Given the description of an element on the screen output the (x, y) to click on. 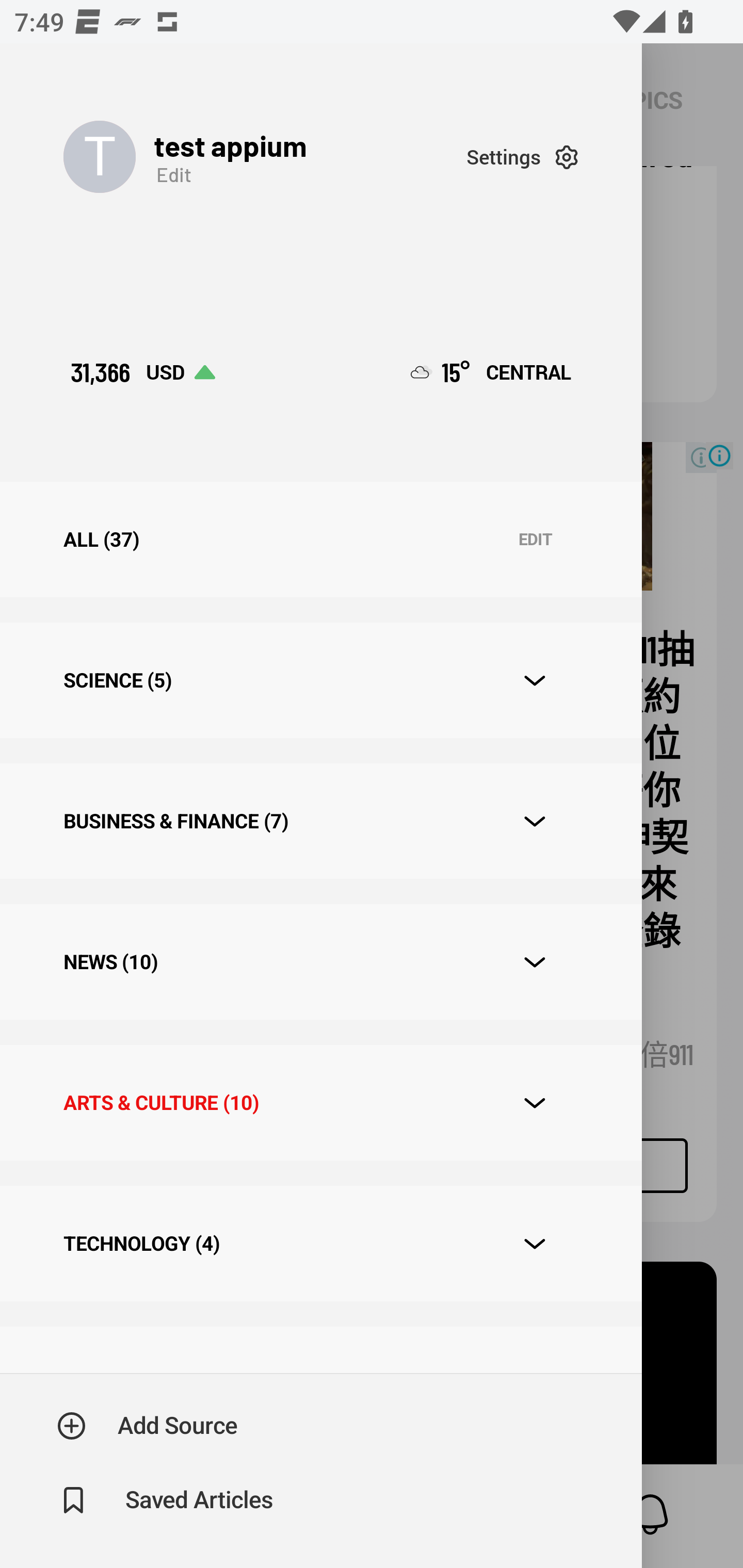
T test appium Edit (264, 156)
Settings Select News Style (522, 156)
31,366 USD Current State of the Currency (142, 372)
Current State of the Weather 15° CENTRAL (490, 372)
ALL  (37) EDIT (320, 539)
EDIT (534, 540)
SCIENCE  (5) Expand Button (320, 680)
Expand Button (534, 681)
BUSINESS & FINANCE  (7) Expand Button (320, 821)
Expand Button (534, 821)
NEWS  (10) Expand Button (320, 961)
Expand Button (534, 961)
ARTS & CULTURE  (10) Expand Button (320, 1102)
Expand Button (534, 1102)
TECHNOLOGY  (4) Expand Button (320, 1243)
Expand Button (534, 1244)
Open Content Store Add Source (147, 1425)
Open Saved News  Saved Articles (166, 1500)
